Given the description of an element on the screen output the (x, y) to click on. 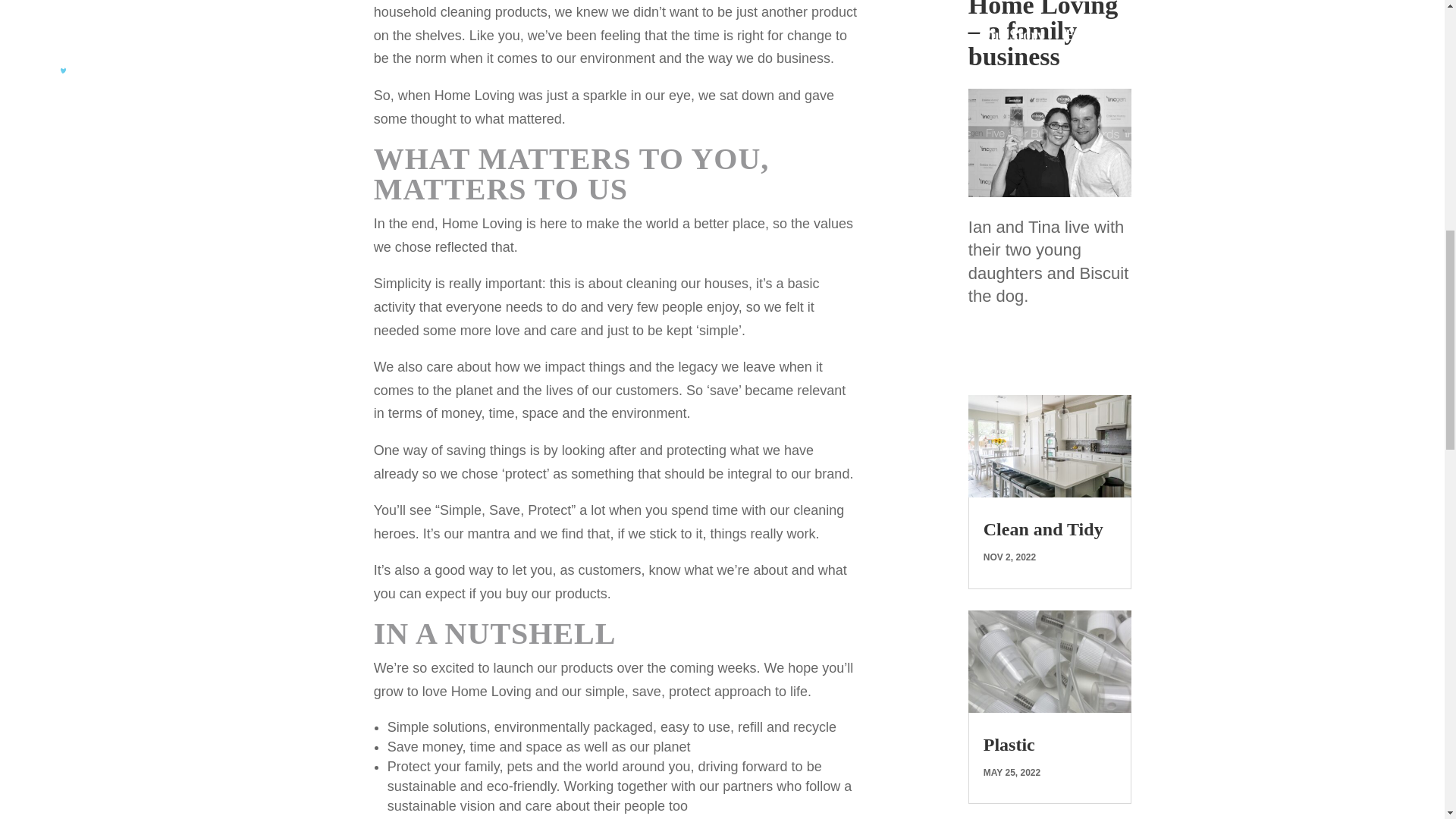
Clean and Tidy (1043, 528)
Plastic (1009, 744)
